Given the description of an element on the screen output the (x, y) to click on. 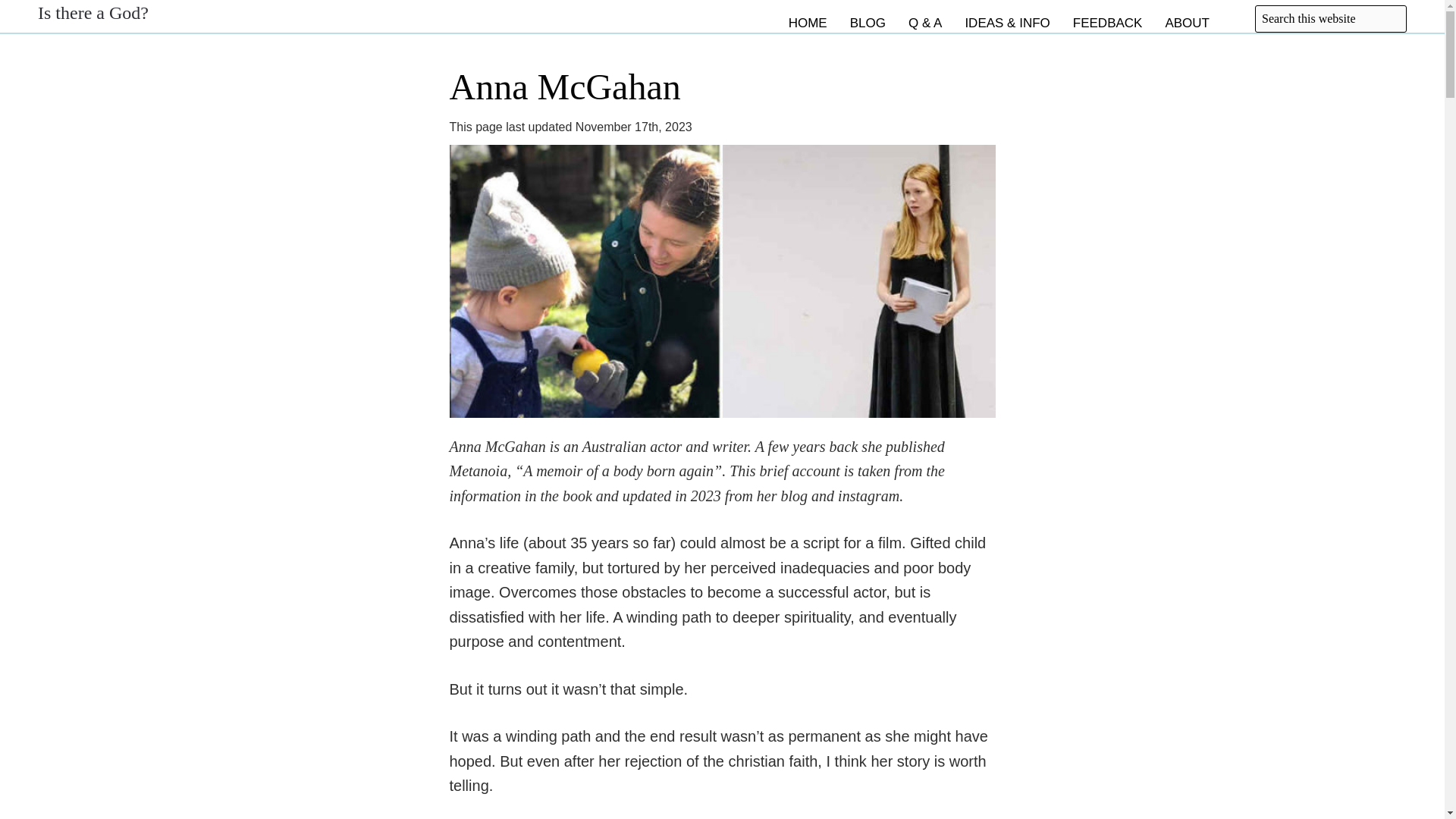
ABOUT (1183, 18)
Website home (803, 18)
Is there a God? (92, 12)
Comment or email (1104, 18)
Anna McGahan (721, 412)
BLOG (863, 18)
Blog home (863, 18)
HOME (803, 18)
Search this website (1330, 18)
Anna McGahan (563, 86)
FEEDBACK (1104, 18)
